Given the description of an element on the screen output the (x, y) to click on. 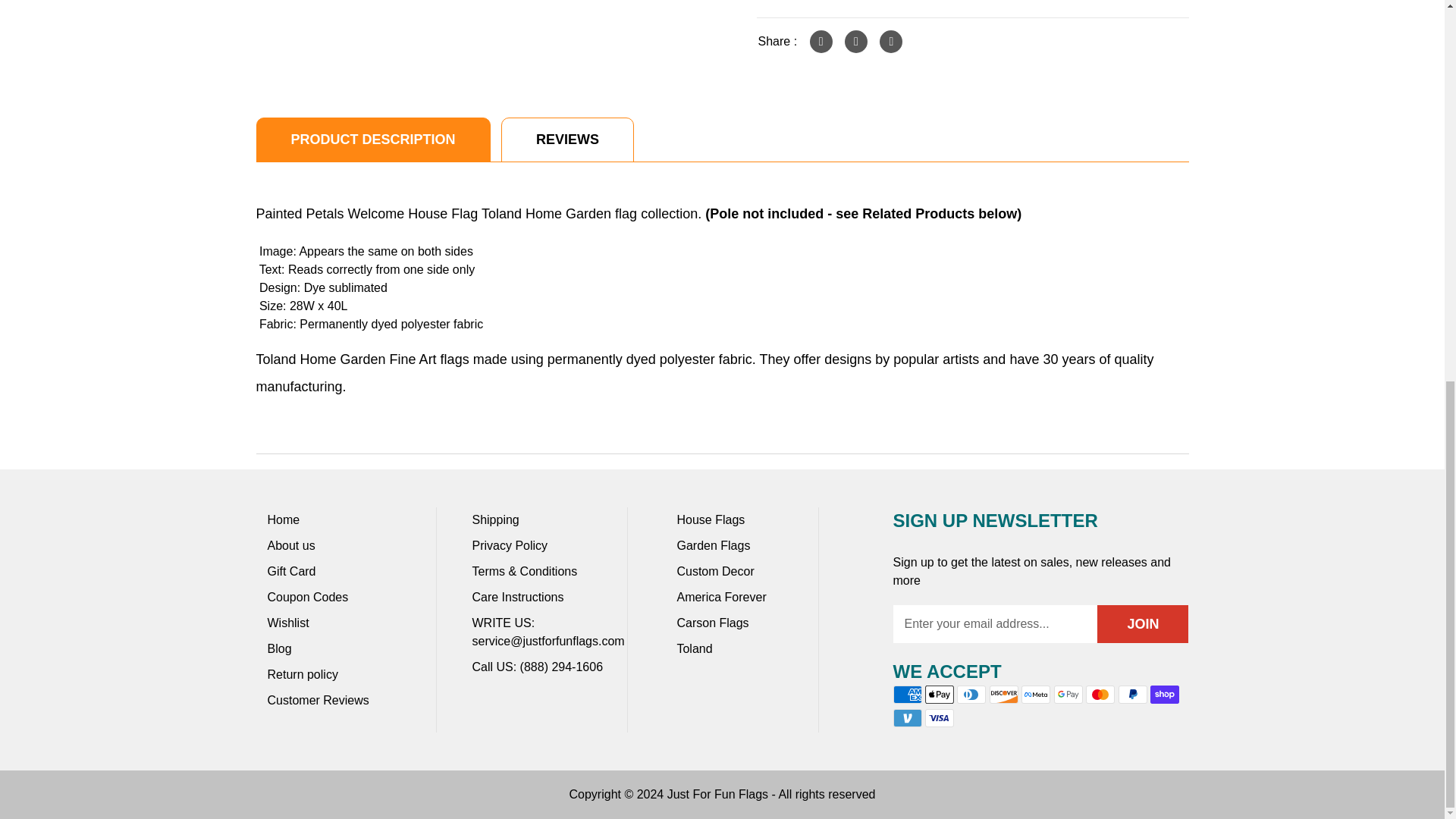
PayPal (1132, 694)
Shop Pay (1164, 694)
Visa (938, 718)
Google Pay (1068, 694)
Discover (1003, 694)
American Express (907, 694)
Venmo (907, 718)
Meta Pay (1035, 694)
Mastercard (1100, 694)
Apple Pay (938, 694)
Diners Club (970, 694)
